Given the description of an element on the screen output the (x, y) to click on. 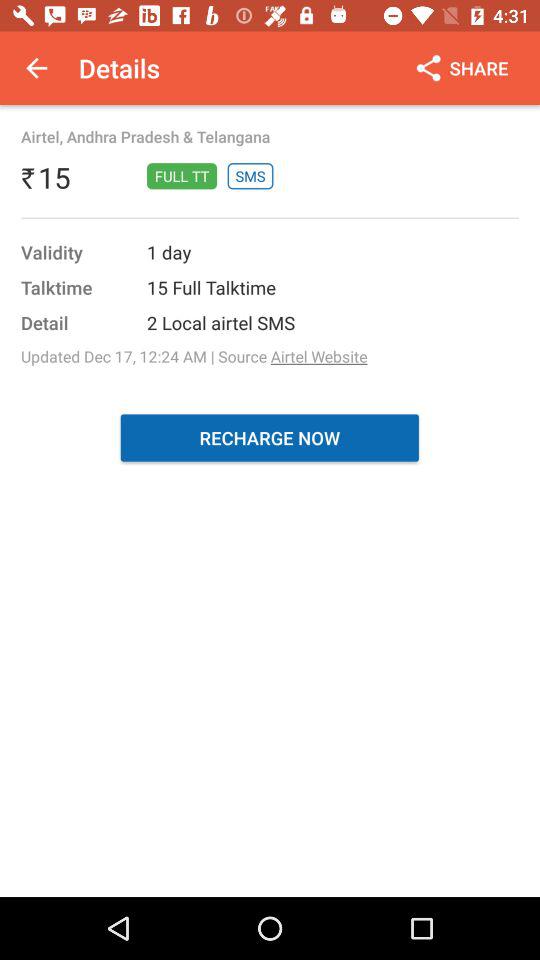
click app to the left of the details icon (36, 68)
